Given the description of an element on the screen output the (x, y) to click on. 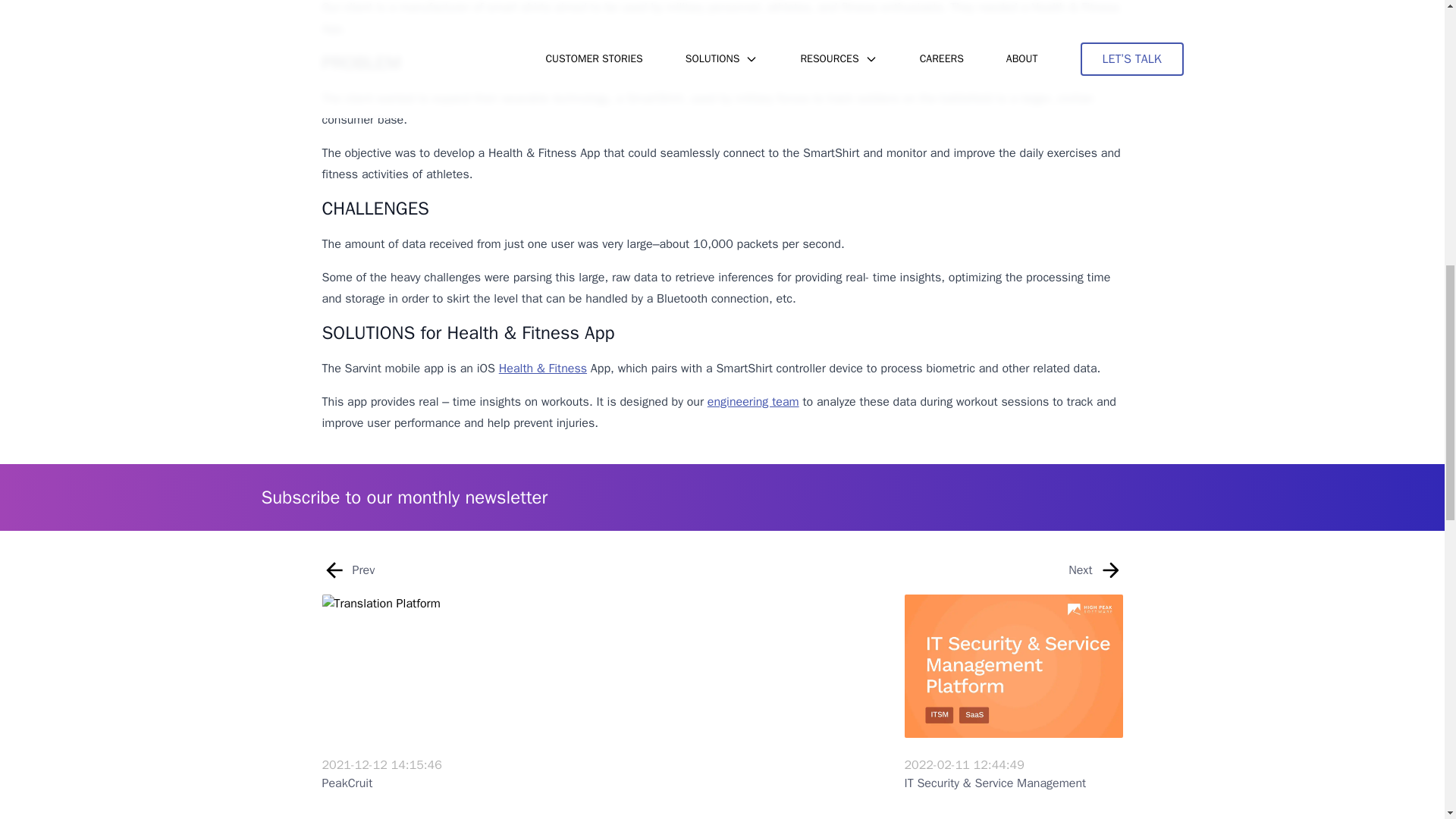
Prev (347, 575)
engineering team (753, 401)
Next (1095, 575)
